Given the description of an element on the screen output the (x, y) to click on. 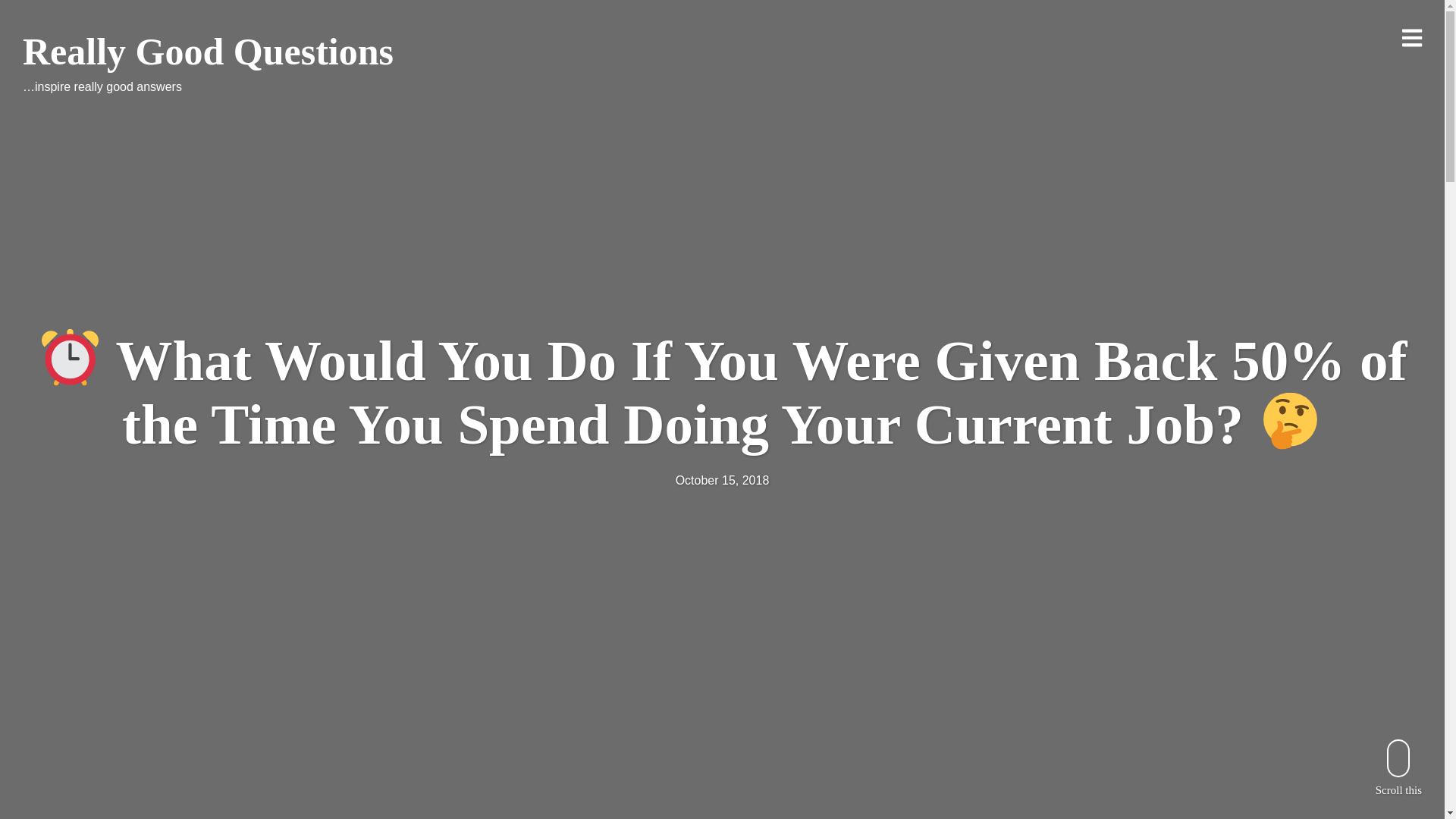
4:07 am (722, 480)
October 15, 2018 (722, 480)
Really Good Questions (208, 51)
